Given the description of an element on the screen output the (x, y) to click on. 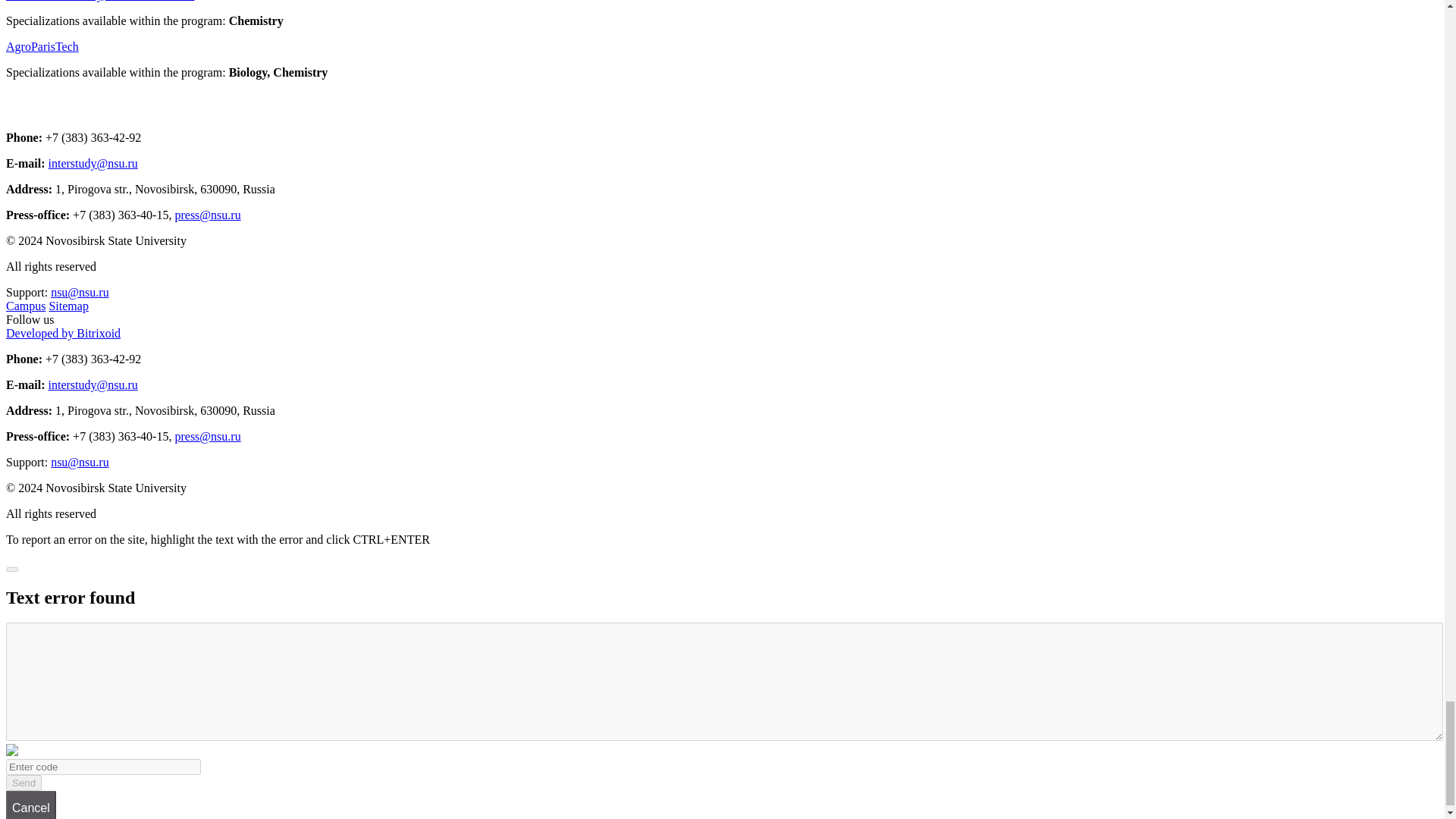
Refresh captcha image (11, 751)
